Given the description of an element on the screen output the (x, y) to click on. 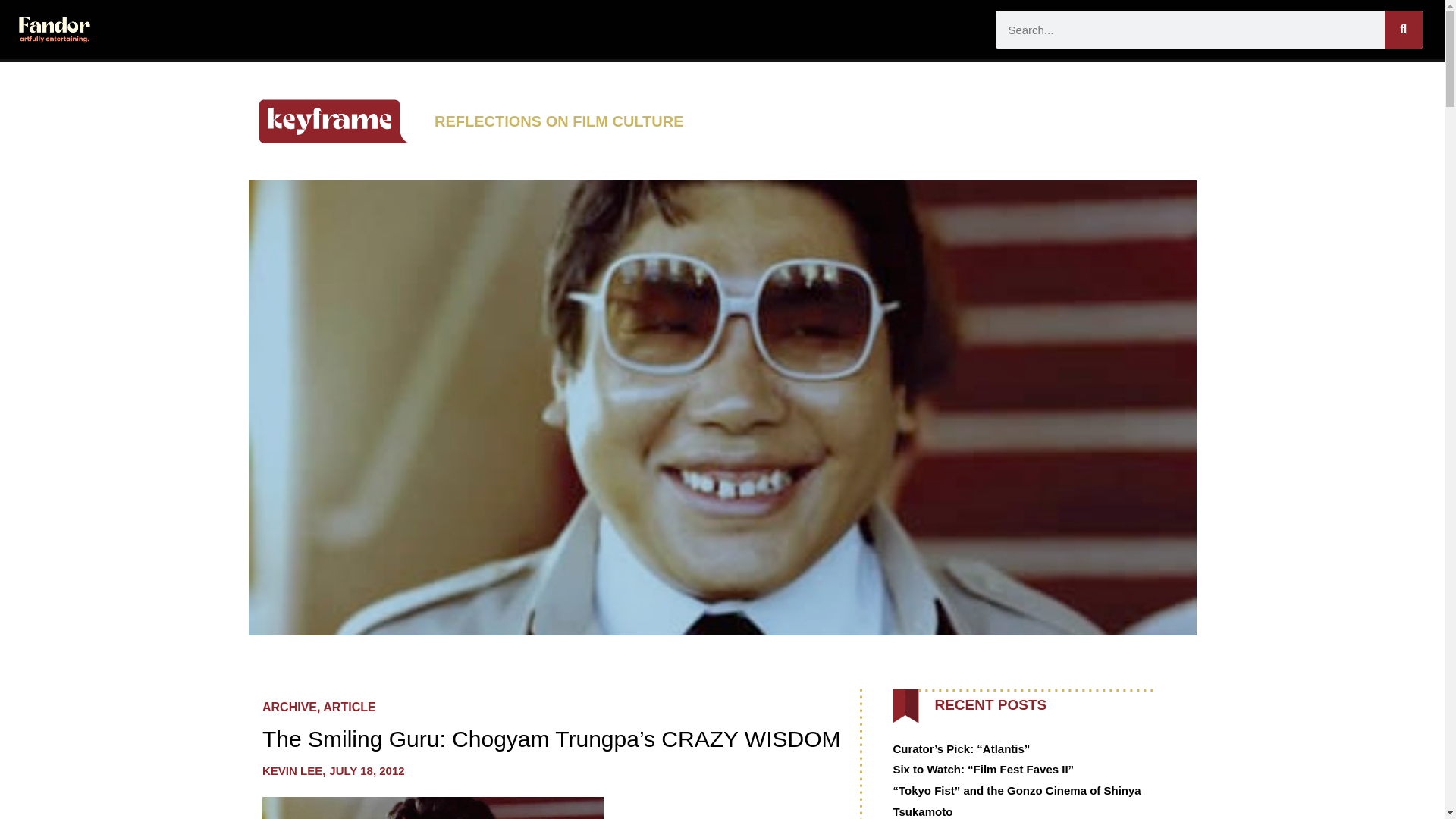
ARCHIVE (289, 707)
Search (1403, 29)
ARTICLE (349, 707)
crazy2 (433, 807)
